Given the description of an element on the screen output the (x, y) to click on. 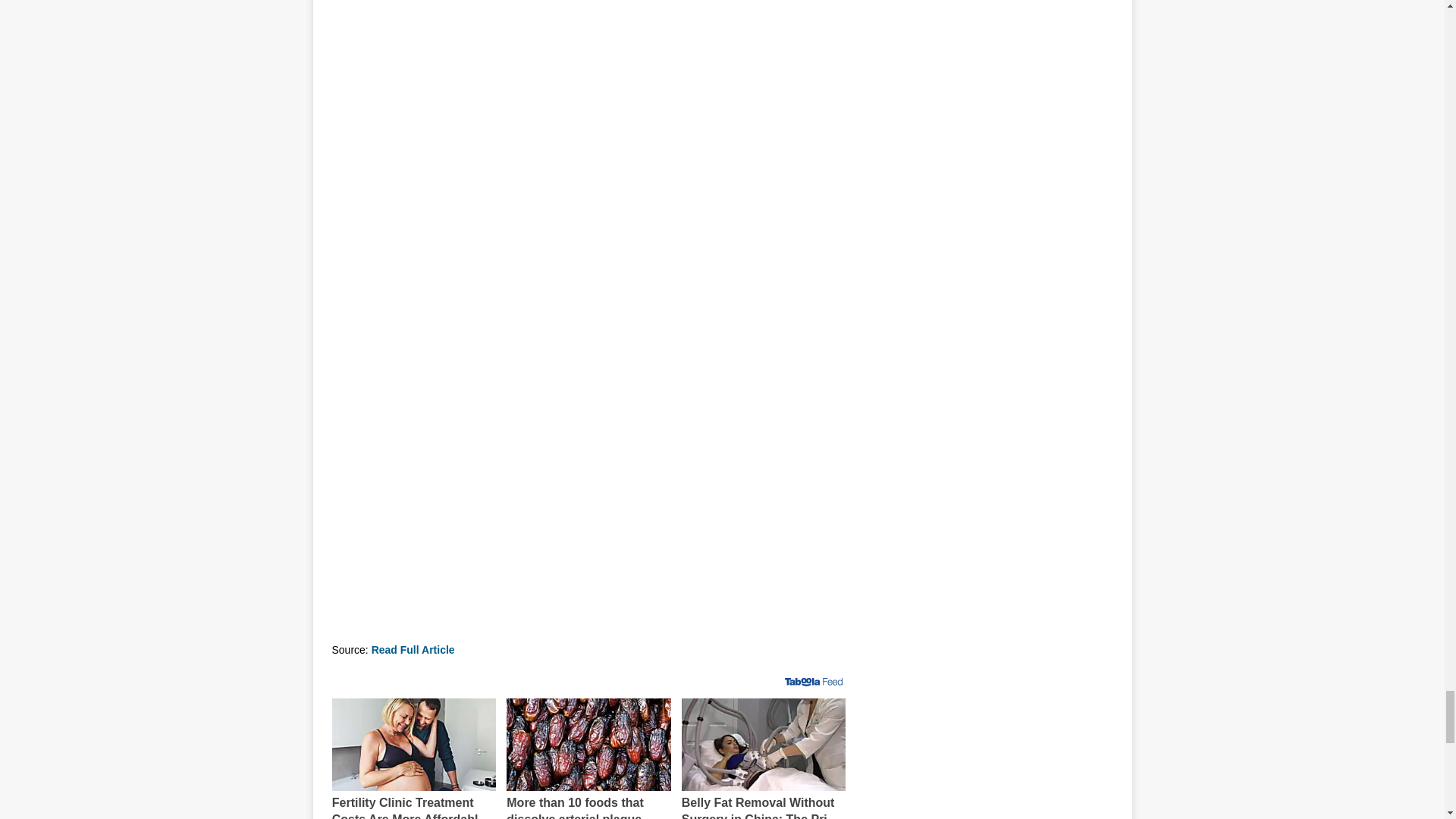
Read Full Article (412, 649)
